Given the description of an element on the screen output the (x, y) to click on. 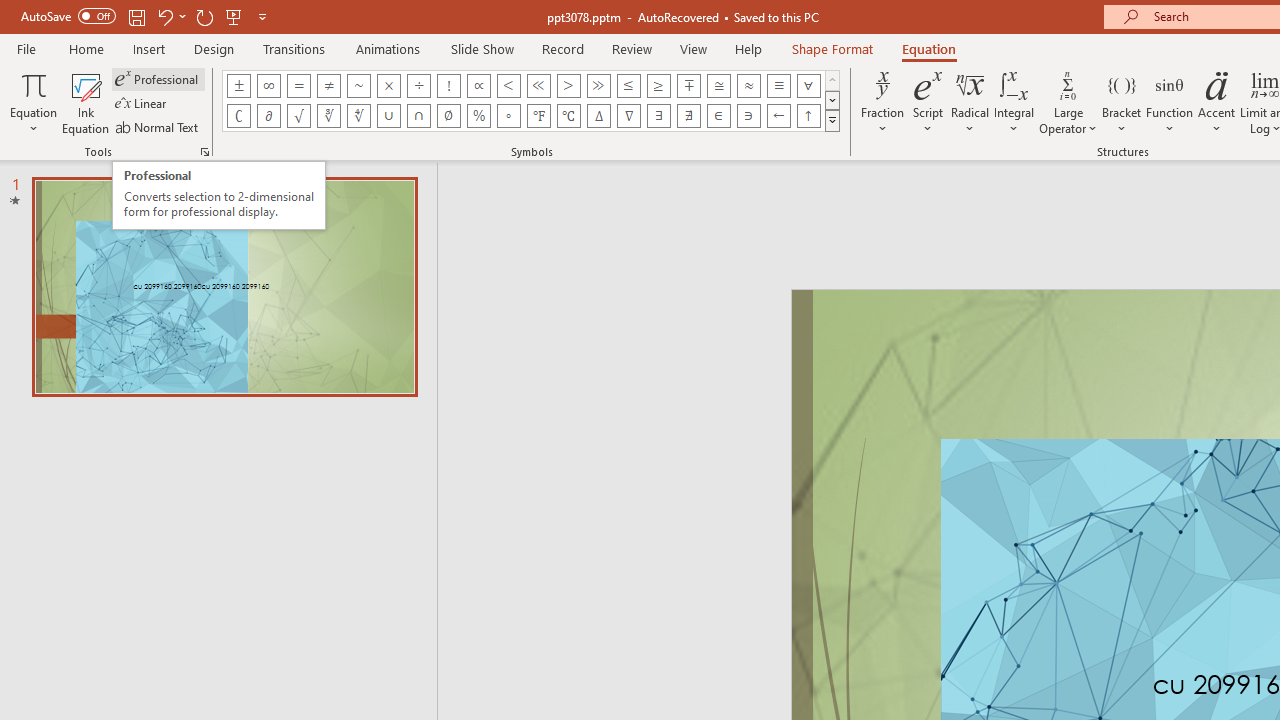
Equation Symbol Multiplication Sign (388, 85)
Integral (1014, 102)
Equation Symbol Plus Minus (238, 85)
Equation Symbols (832, 120)
Normal Text (158, 126)
Equation Symbol Equal (298, 85)
Equation Symbol Cube Root (328, 115)
Equation Symbol Division Sign (418, 85)
Equation Symbol Empty Set (448, 115)
Linear (142, 103)
Ink Equation (86, 102)
